Given the description of an element on the screen output the (x, y) to click on. 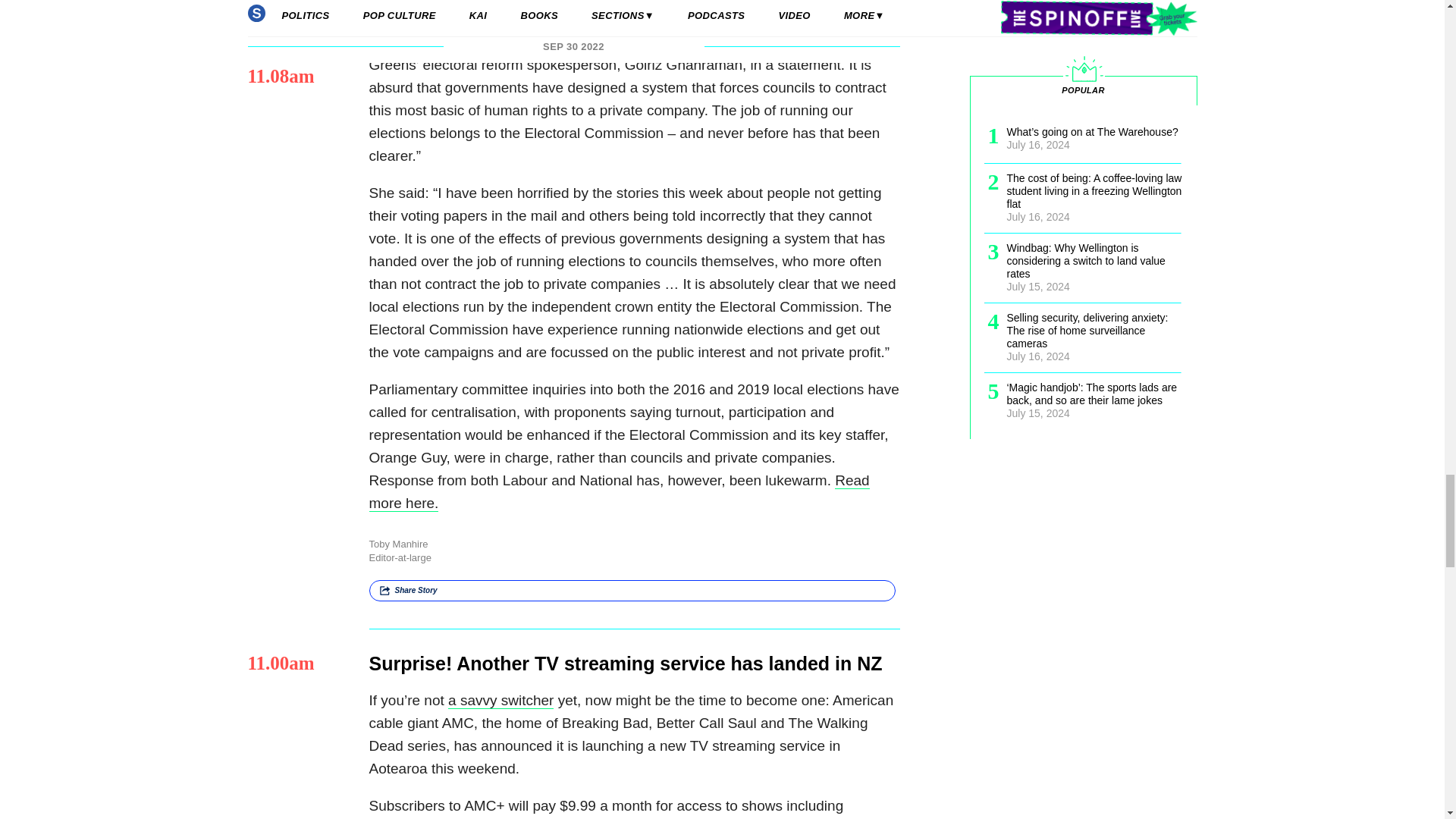
view all posts by Toby Manhire (398, 543)
